Given the description of an element on the screen output the (x, y) to click on. 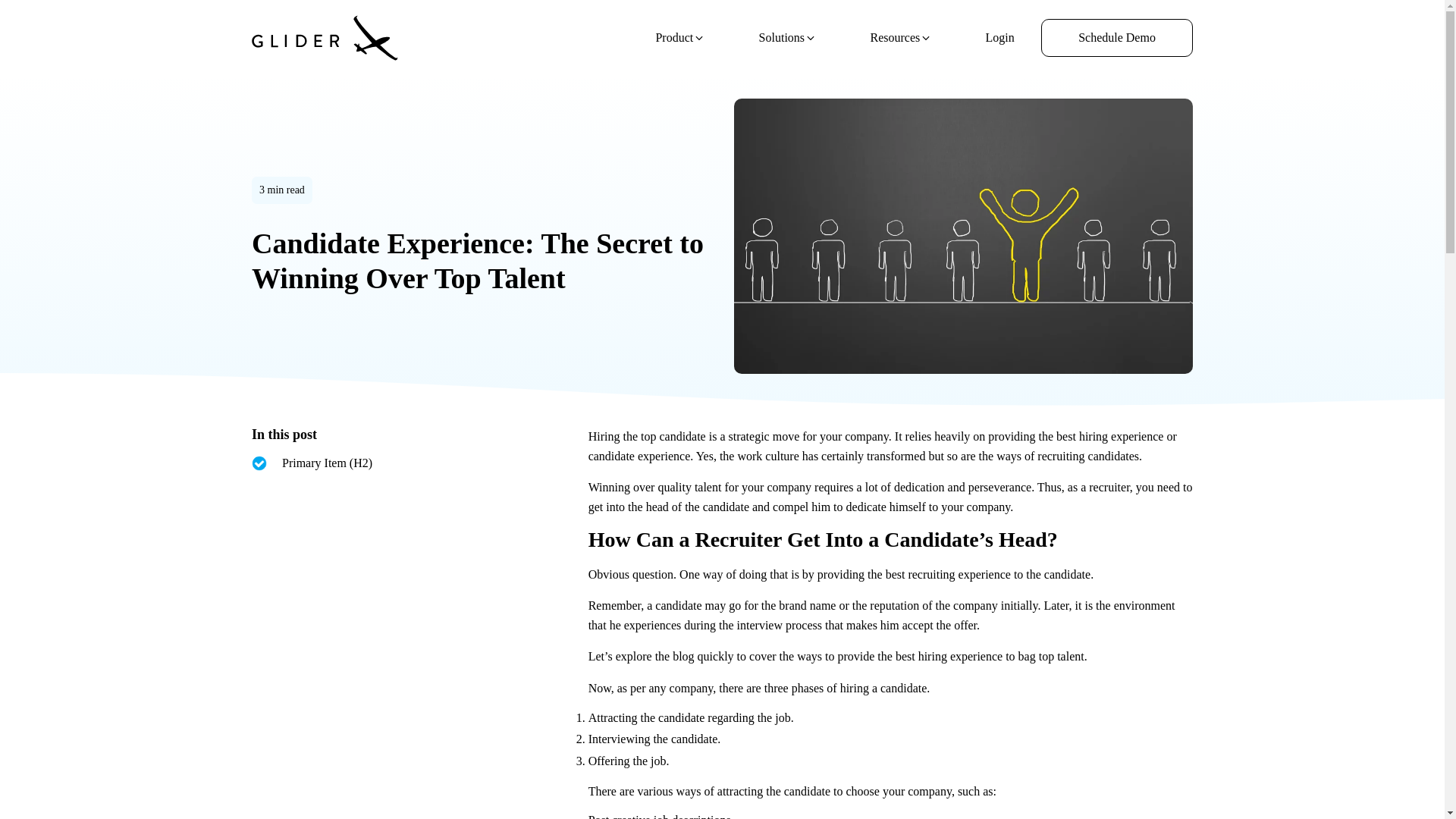
Product (680, 37)
Solutions (787, 37)
Resources (900, 37)
